Given the description of an element on the screen output the (x, y) to click on. 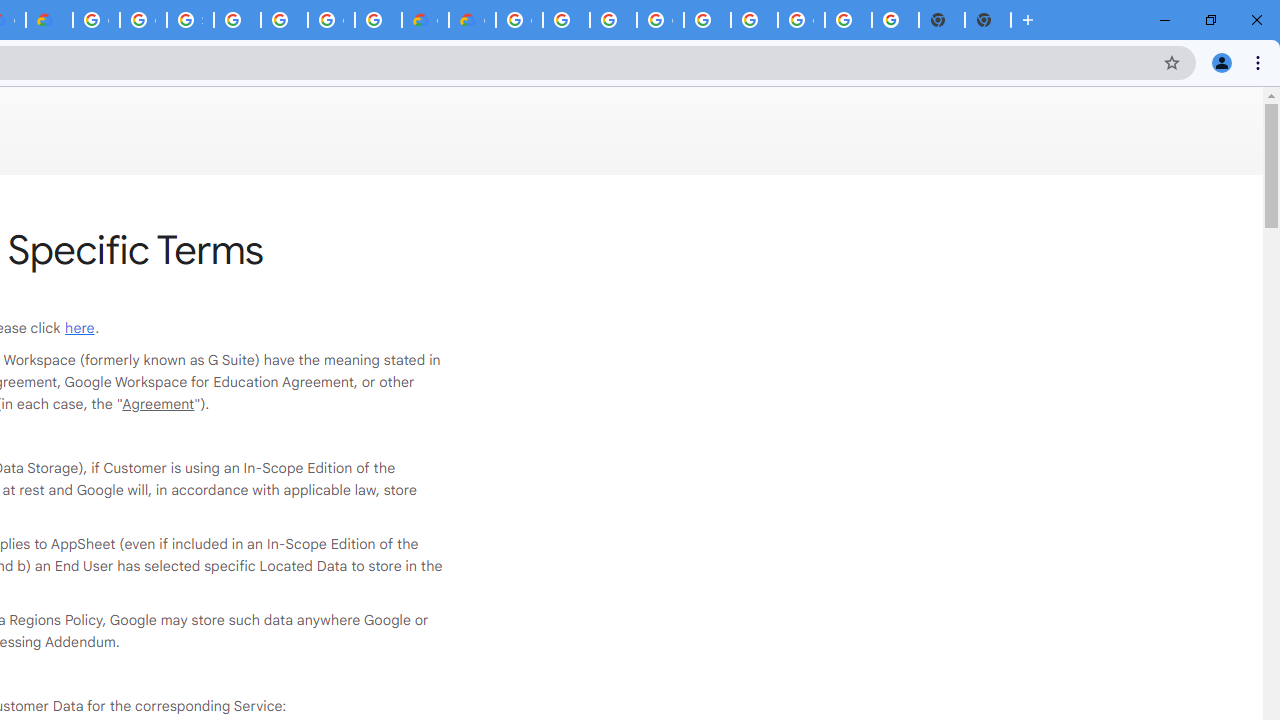
Google Cloud Platform (518, 20)
here (79, 327)
New Tab (988, 20)
Browse Chrome as a guest - Computer - Google Chrome Help (566, 20)
Google Cloud Platform (660, 20)
Google Cloud Estimate Summary (472, 20)
Google Cloud Platform (331, 20)
